Given the description of an element on the screen output the (x, y) to click on. 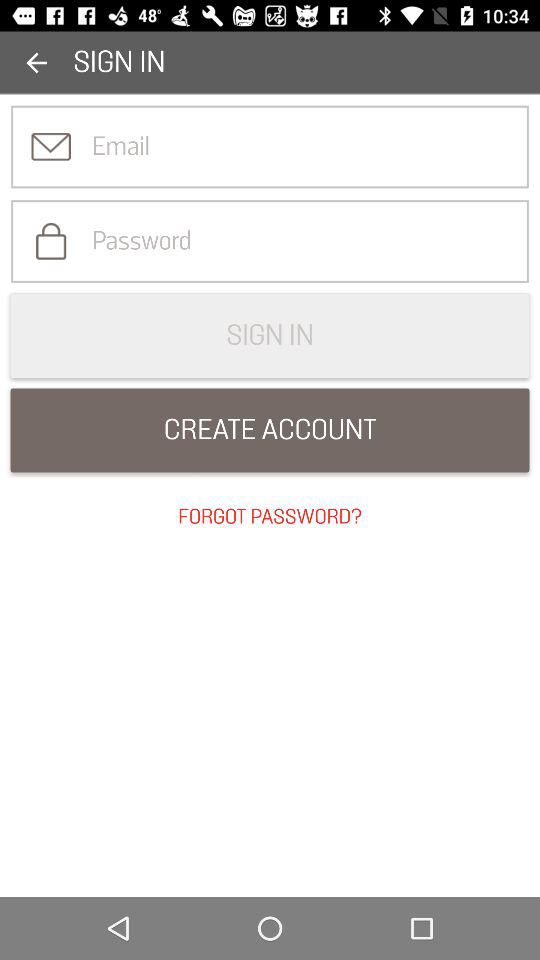
choose the item below sign in icon (269, 430)
